Given the description of an element on the screen output the (x, y) to click on. 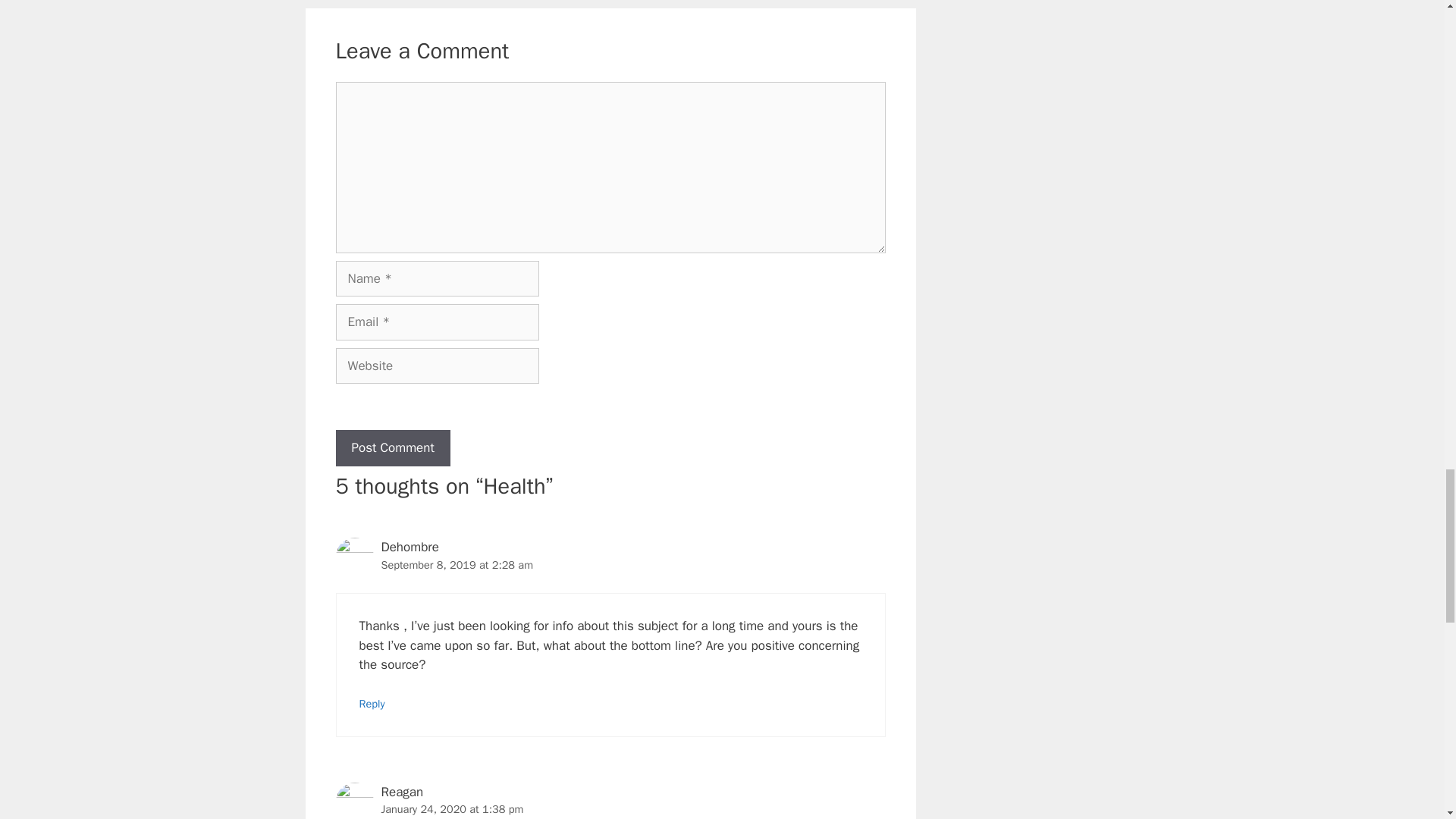
Post Comment (391, 447)
